Given the description of an element on the screen output the (x, y) to click on. 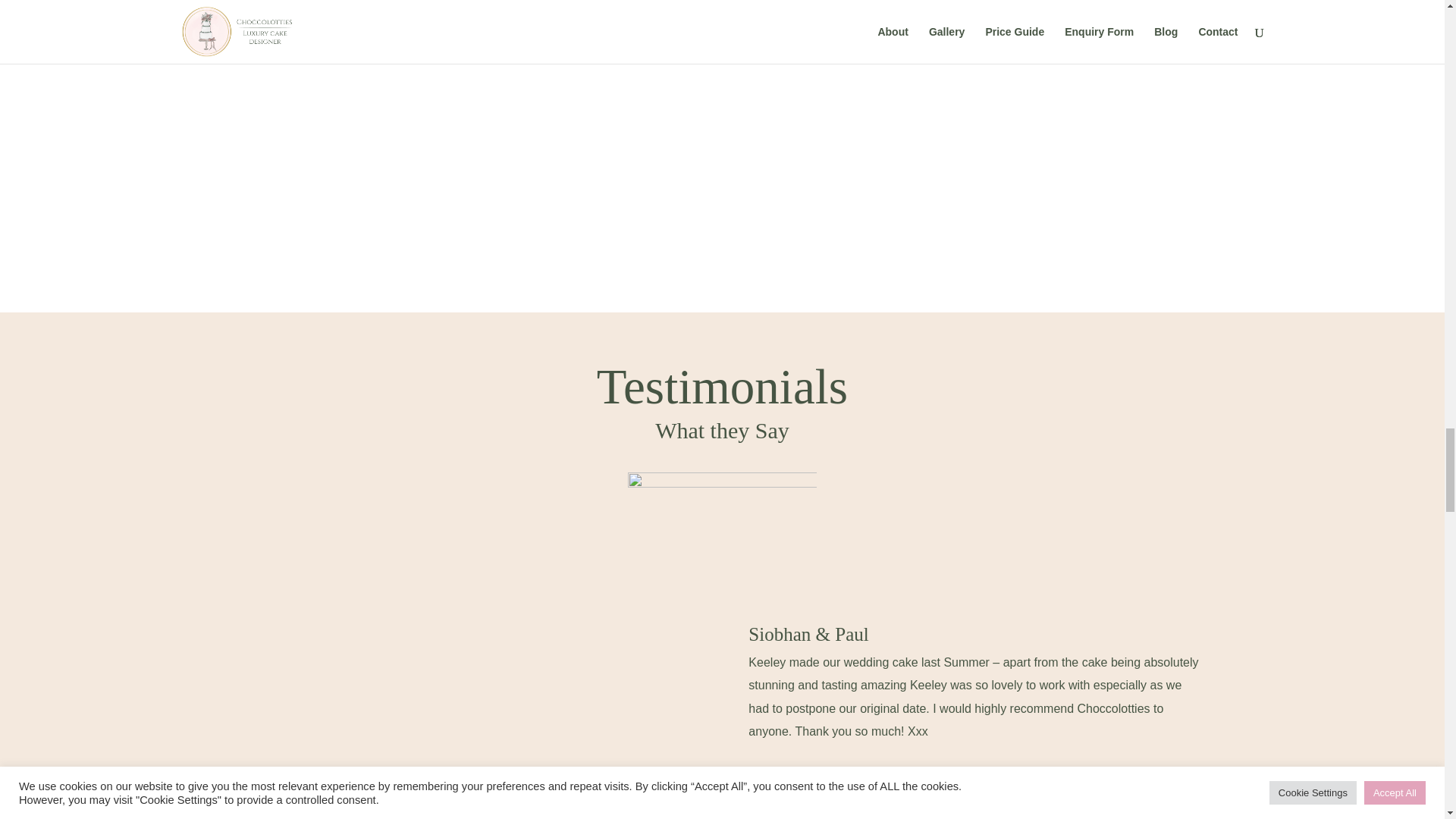
DFA54E63-E45D-4DC2-A02B-207D59BFCC2C (722, 90)
AD359492-81FC-477D-94EA-3F0AD299EE00 (267, 106)
5 gold stars (721, 492)
64804E7E-A6FF-4754-859B-526BB8E3E718 (1176, 106)
